Given the description of an element on the screen output the (x, y) to click on. 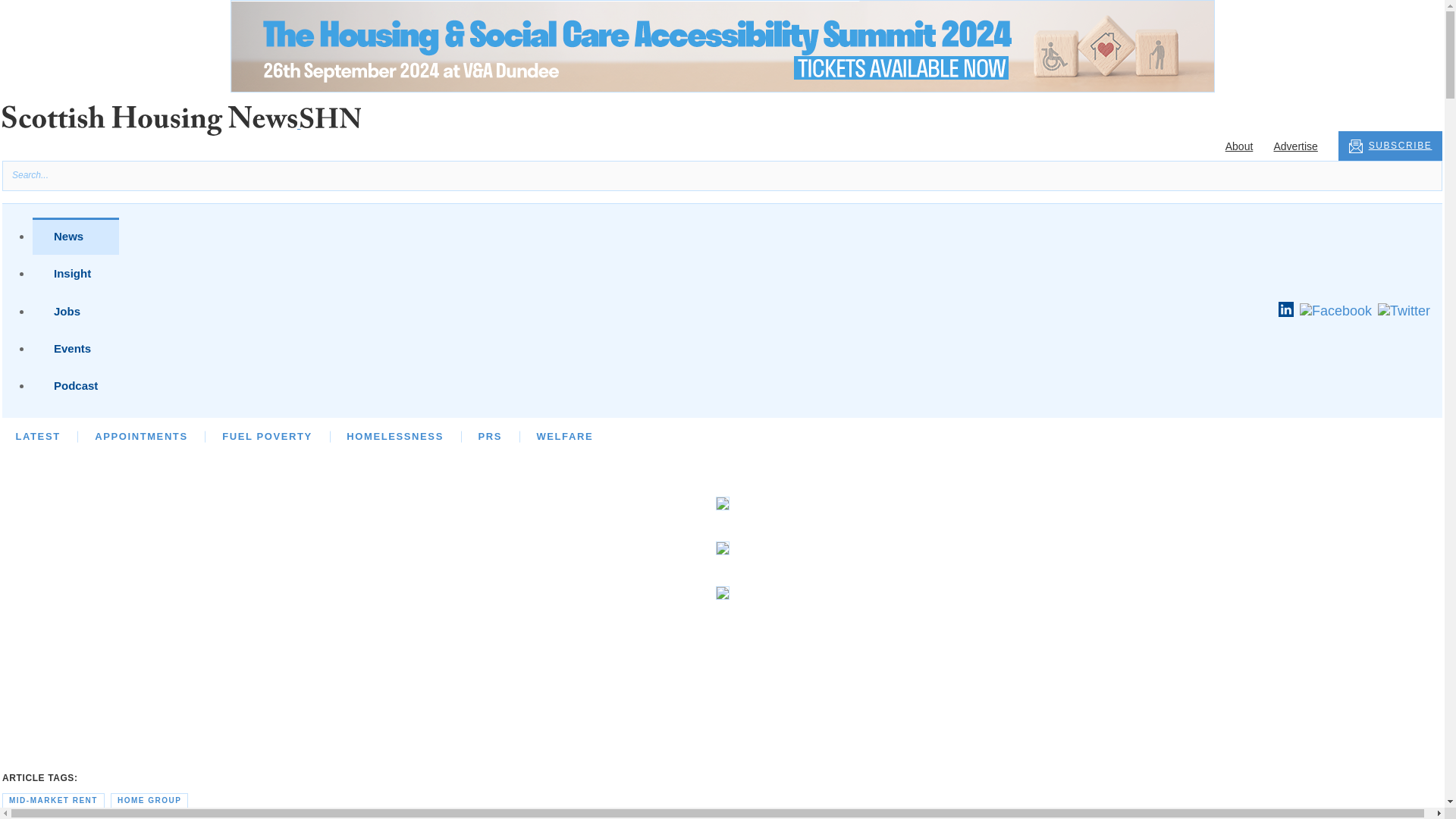
HOUSING CHAMPIONS (351, 436)
SUBSCRIBE (1390, 145)
FUEL POVERTY (267, 436)
HOMELESSNESS (395, 436)
Events (75, 348)
Podcast (75, 385)
OPINION (119, 436)
Jobs (75, 311)
OUR HOUSING HERITAGE (804, 436)
APPOINTMENTS (140, 436)
